Given the description of an element on the screen output the (x, y) to click on. 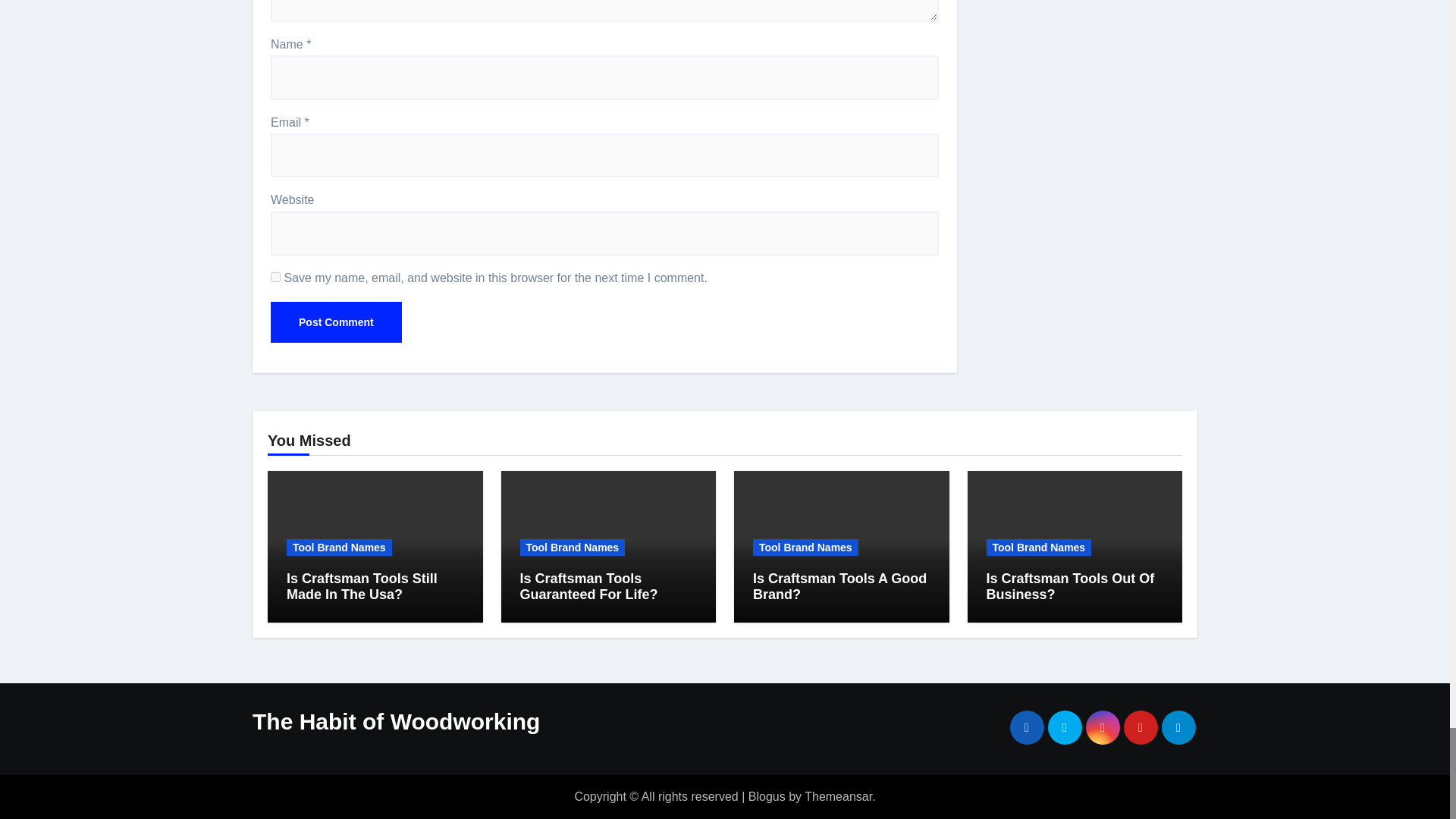
Permalink to: Is Craftsman Tools Still Made In The Usa? (362, 586)
yes (275, 276)
Post Comment (335, 322)
Permalink to: Is Craftsman Tools Guaranteed For Life? (588, 586)
Permalink to: Is Craftsman Tools Out Of Business? (1069, 586)
Permalink to: Is Craftsman Tools A Good Brand? (839, 586)
